Given the description of an element on the screen output the (x, y) to click on. 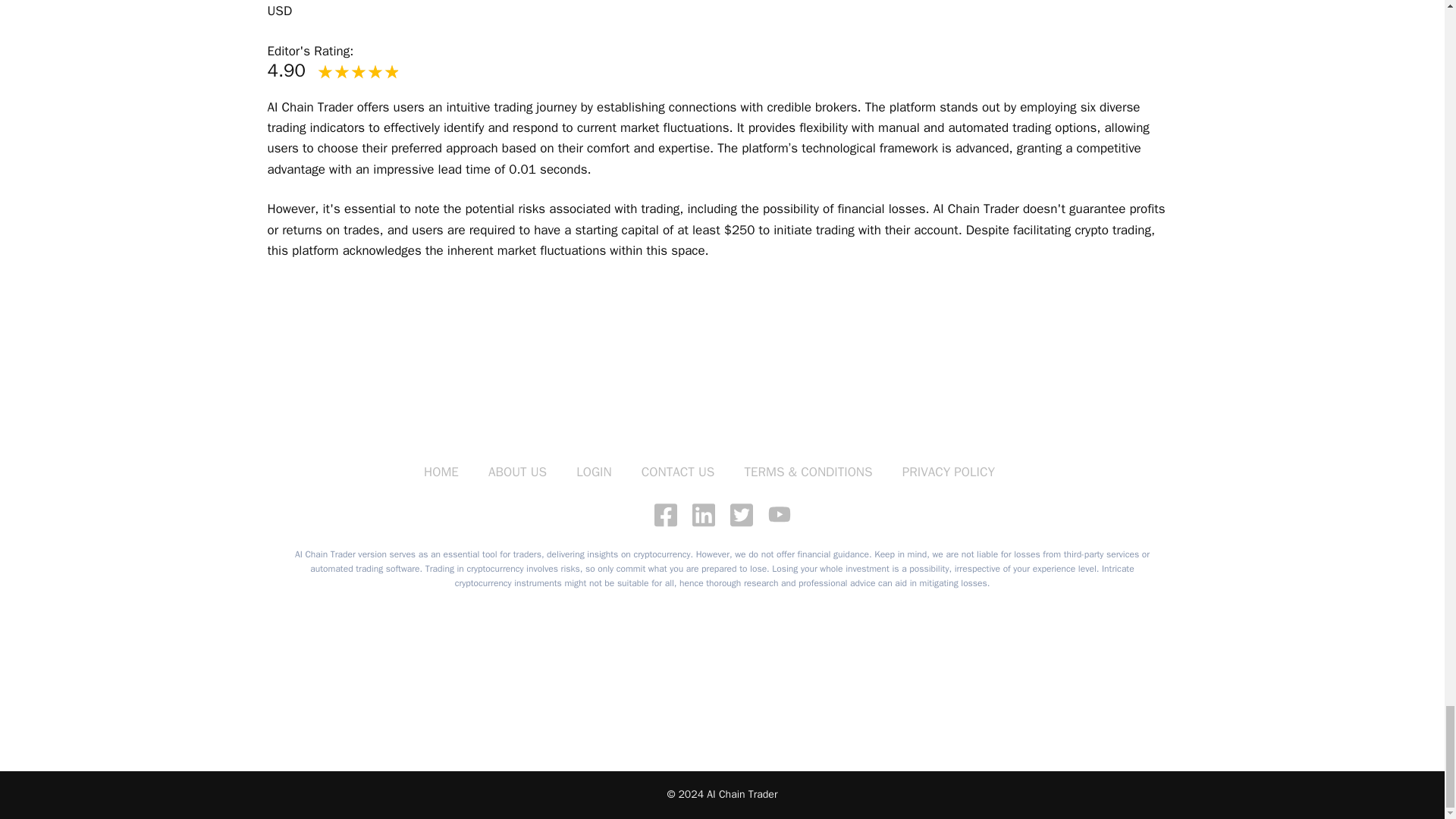
CONTACT US (678, 471)
HOME (440, 471)
LOGIN (593, 471)
ABOUT US (517, 471)
